Given the description of an element on the screen output the (x, y) to click on. 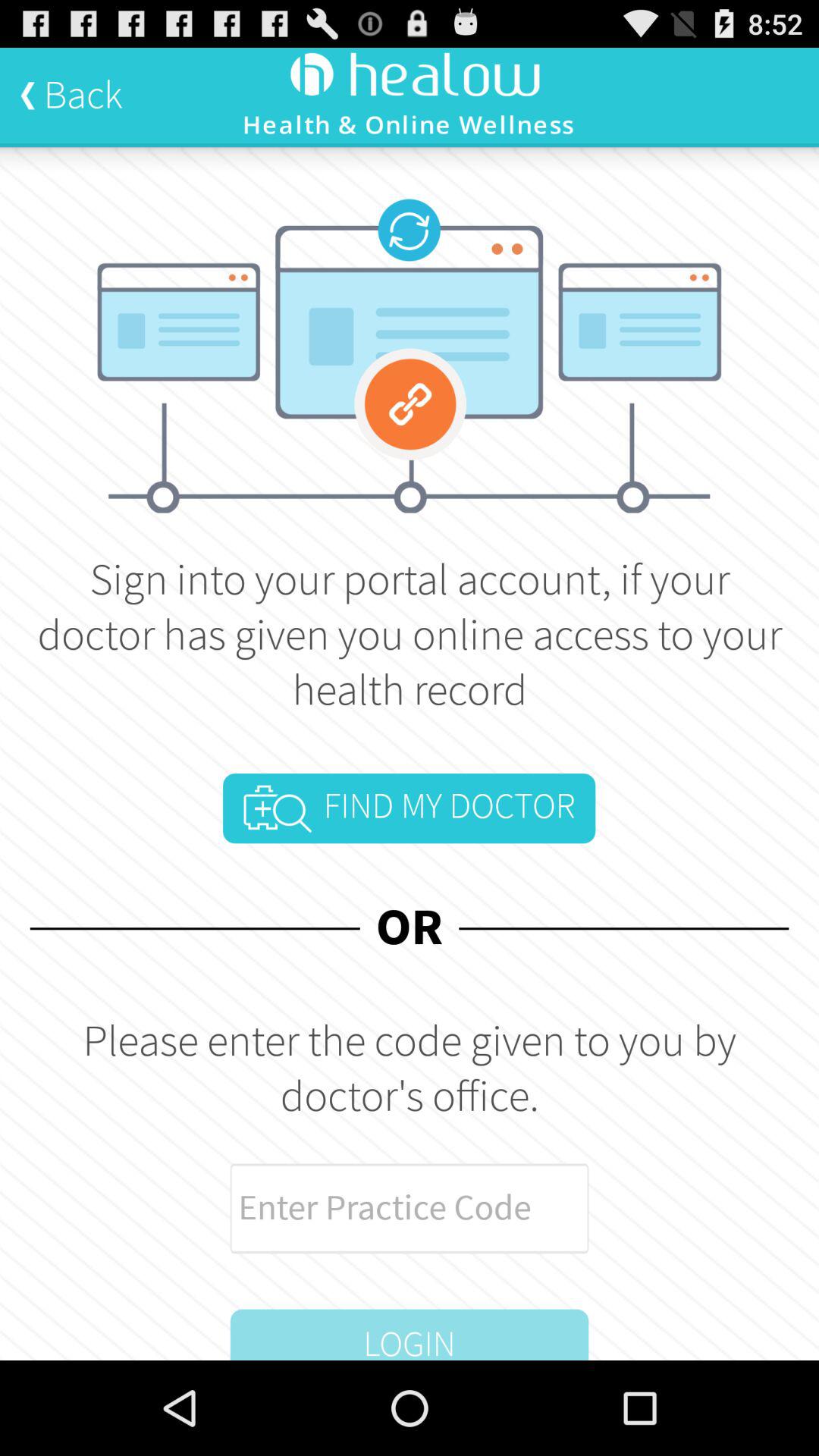
scroll until find my doctor (408, 808)
